Given the description of an element on the screen output the (x, y) to click on. 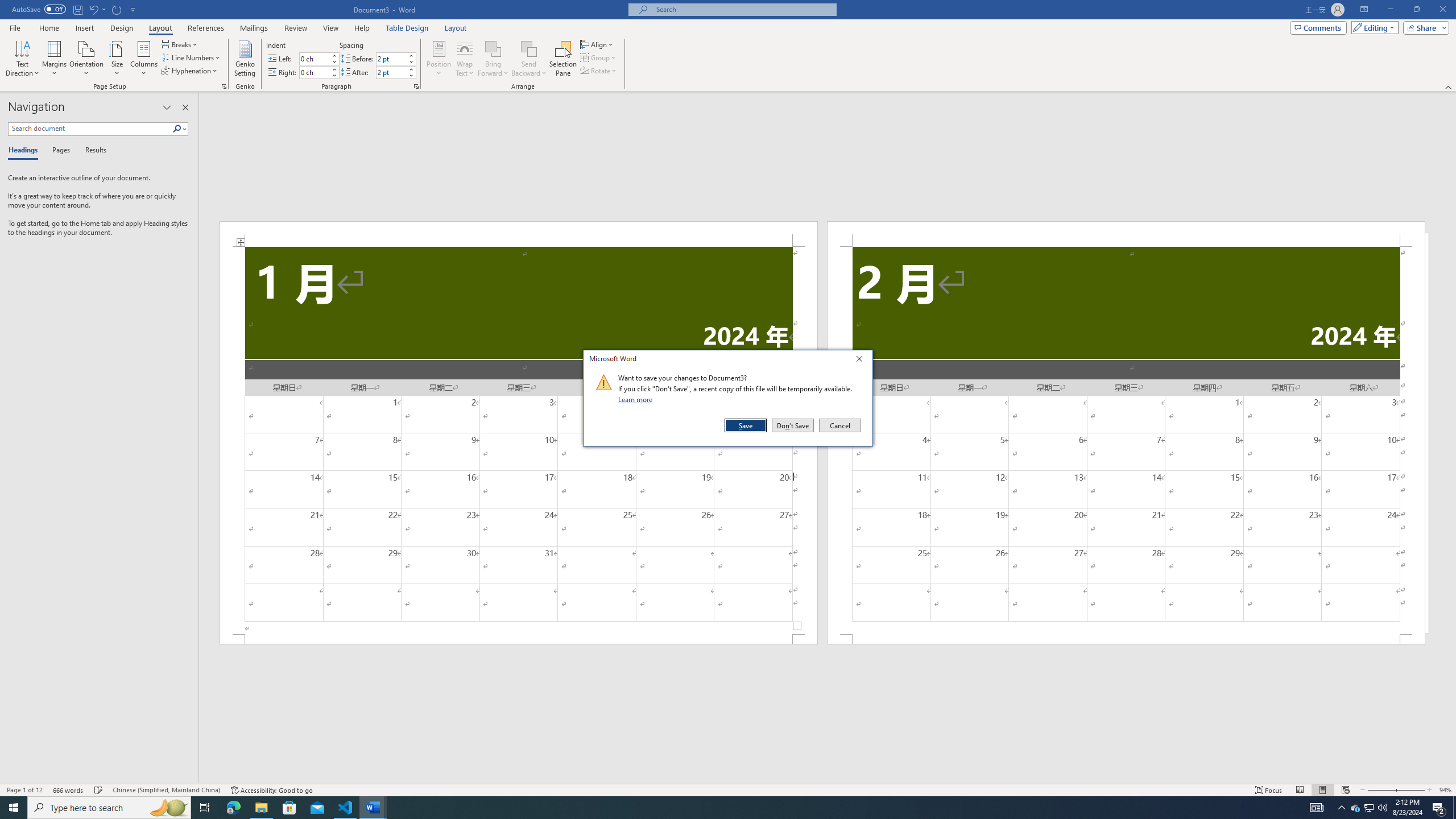
Position (438, 58)
Breaks (179, 44)
Indent Right (314, 72)
Header -Section 2- (1126, 233)
